Given the description of an element on the screen output the (x, y) to click on. 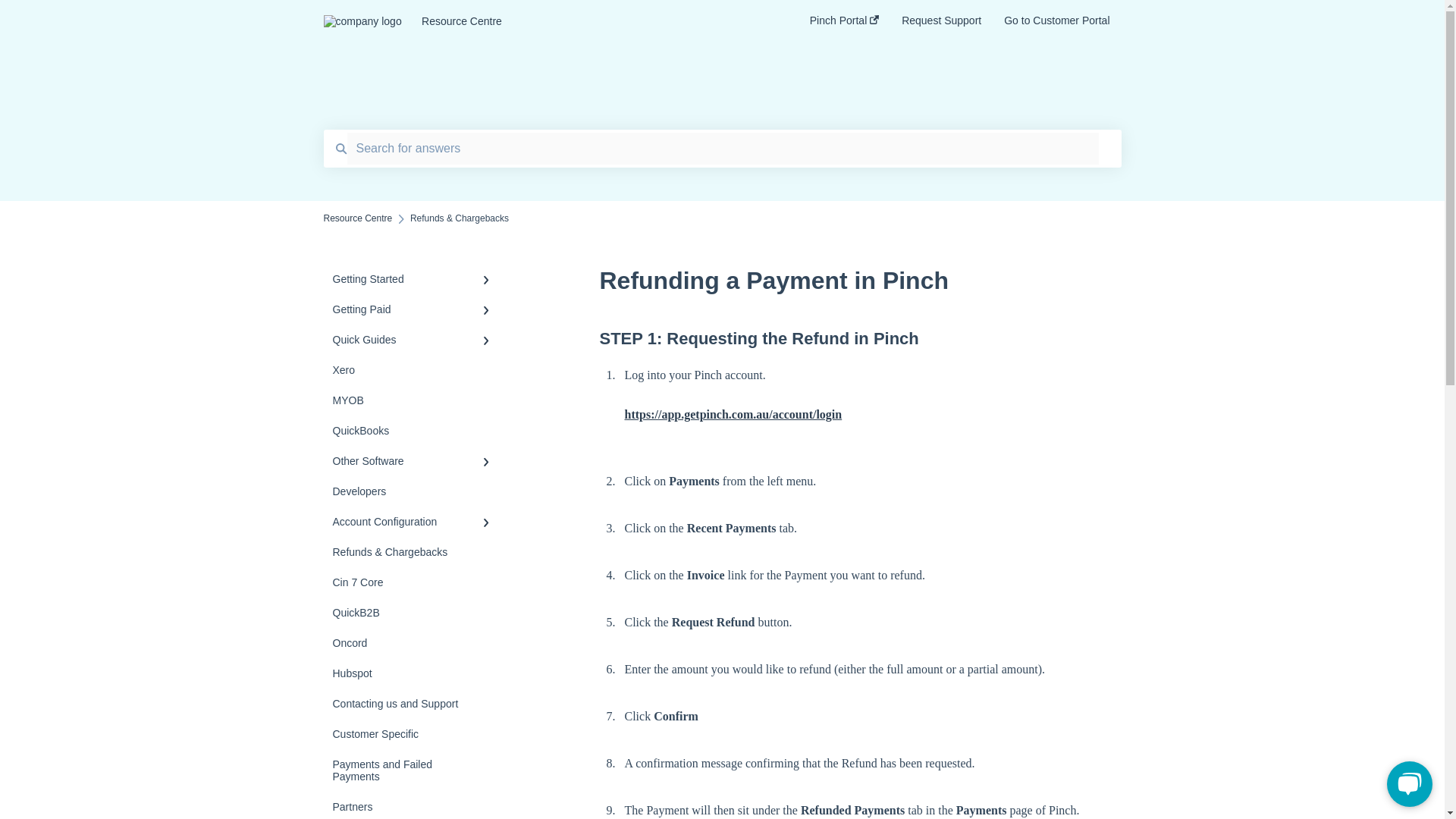
Request Support (941, 25)
Go to Customer Portal (1056, 25)
Pinch Portal (844, 25)
Resource Centre (357, 217)
Resource Centre (593, 21)
